Given the description of an element on the screen output the (x, y) to click on. 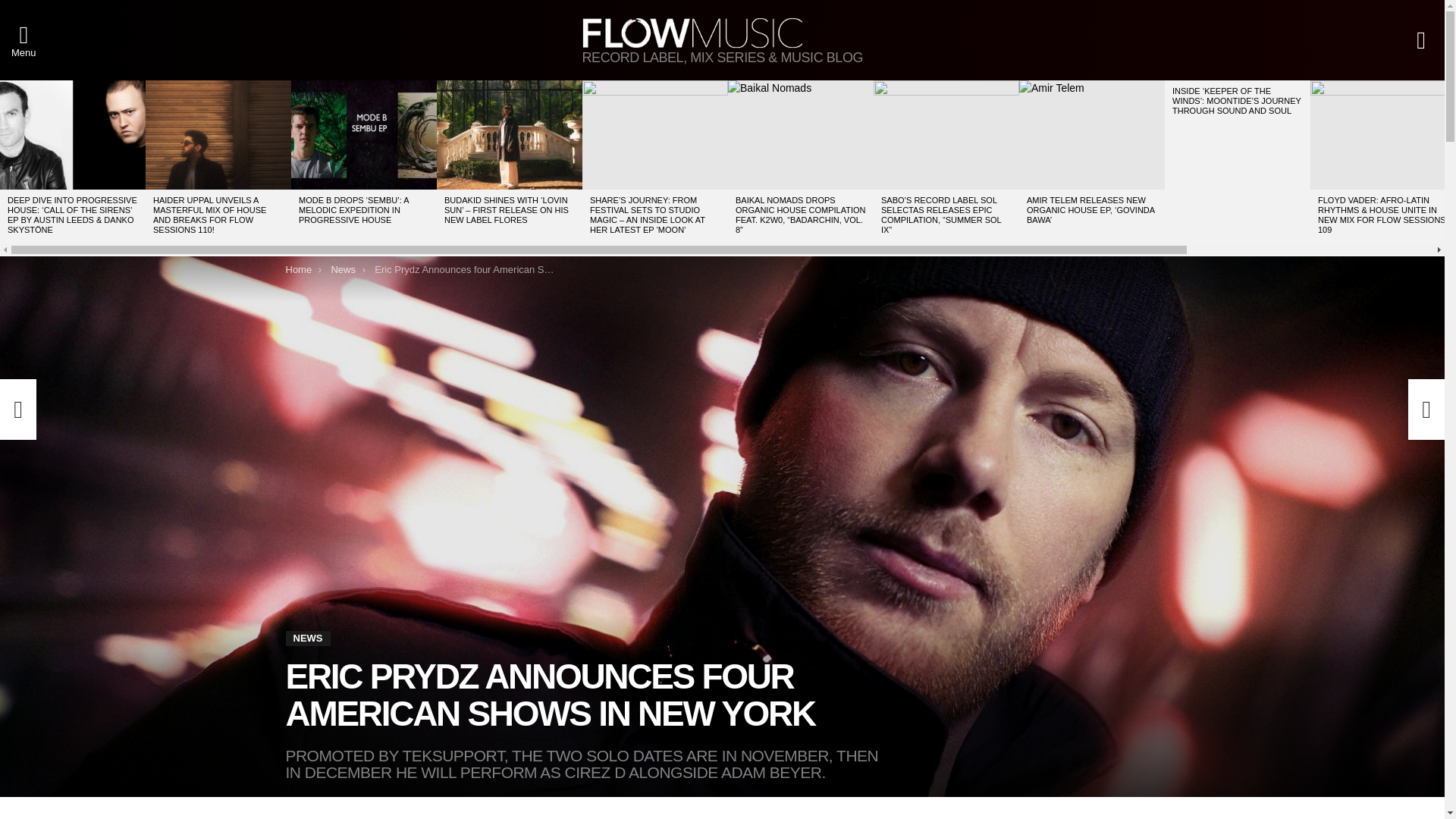
NEWS (307, 638)
Home (298, 269)
News (342, 269)
